Given the description of an element on the screen output the (x, y) to click on. 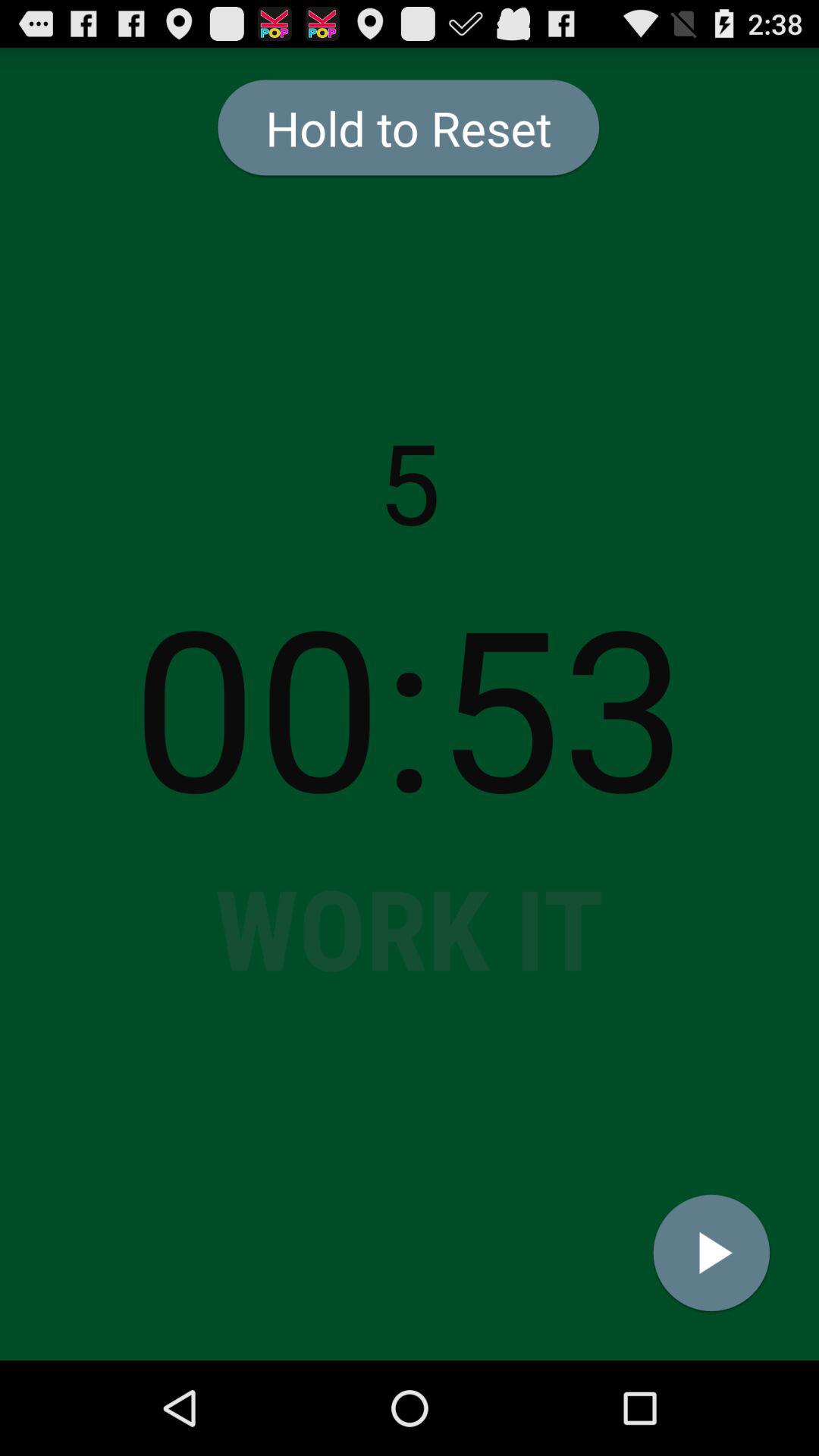
press icon below the 00:53 item (711, 1252)
